Given the description of an element on the screen output the (x, y) to click on. 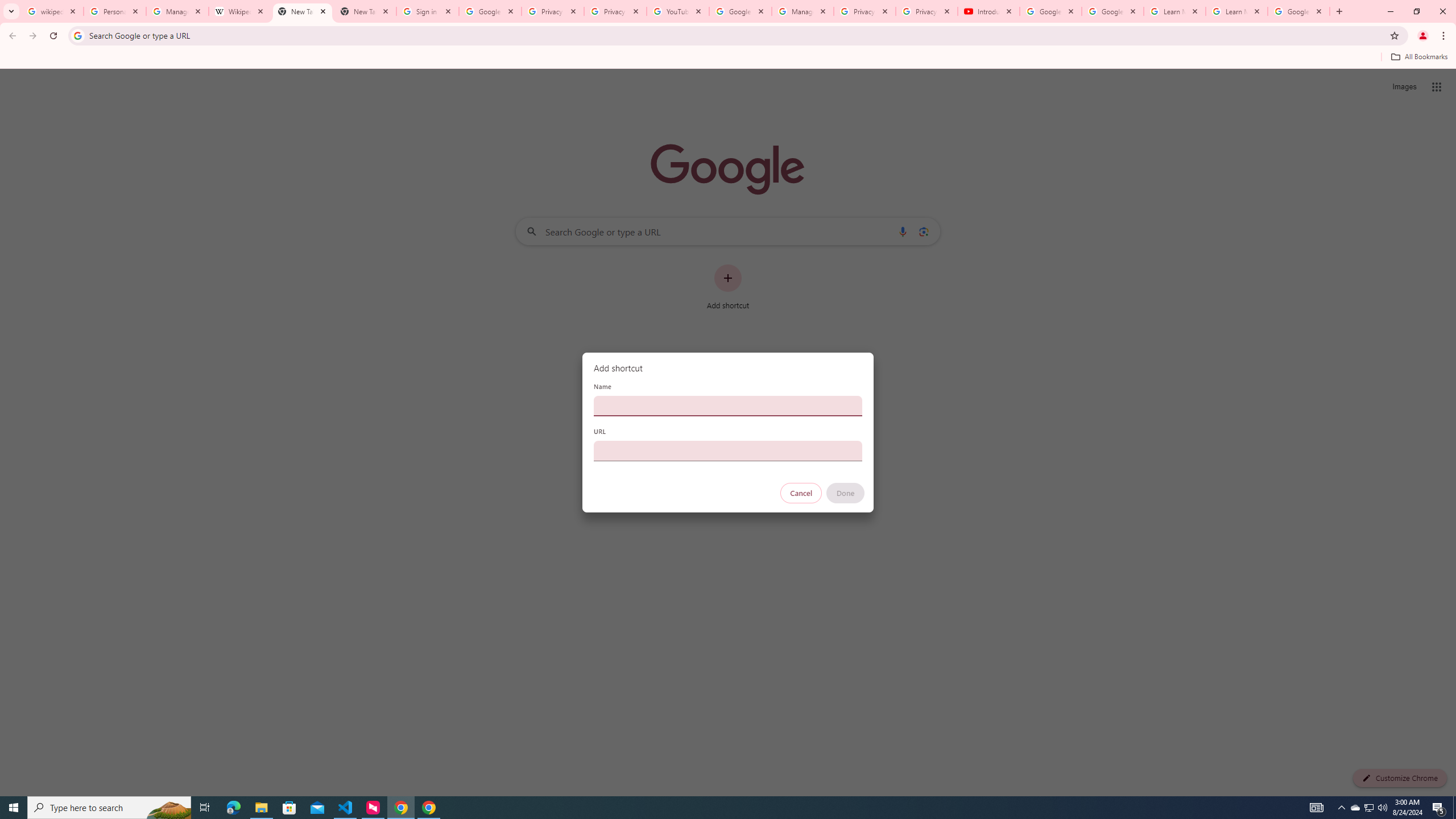
URL (727, 450)
Bookmarks (728, 58)
Cancel (801, 493)
Personalization & Google Search results - Google Search Help (114, 11)
Done (845, 493)
Sign in - Google Accounts (427, 11)
Google Account Help (740, 11)
Google Account (1298, 11)
